Given the description of an element on the screen output the (x, y) to click on. 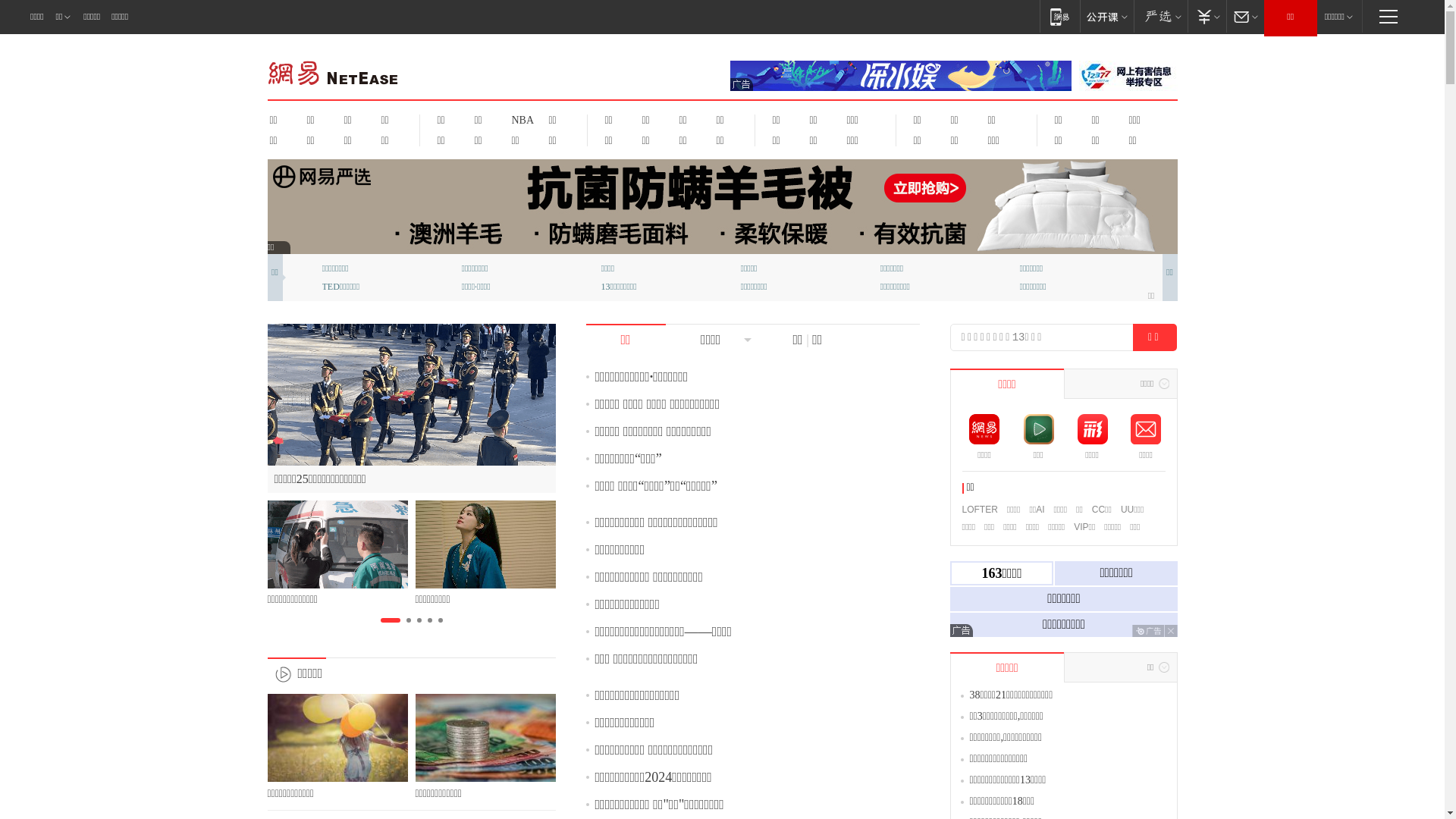
NBA Element type: text (520, 119)
LOFTER Element type: text (979, 509)
